Given the description of an element on the screen output the (x, y) to click on. 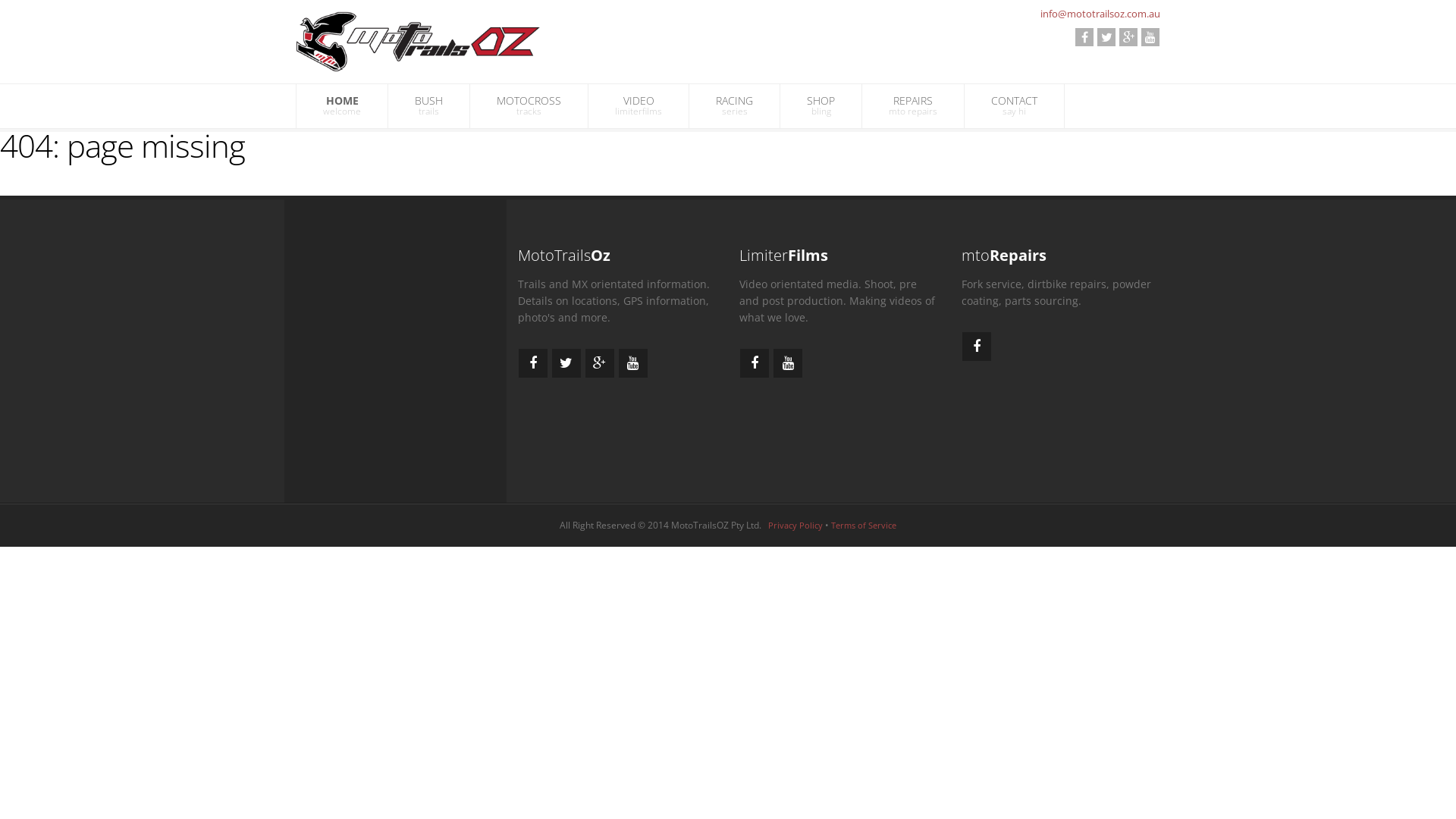
VIDEO
limiterfilms Element type: text (638, 106)
BUSH
trails Element type: text (428, 106)
MOTOCROSS
tracks Element type: text (528, 106)
HOME
welcome Element type: text (341, 106)
REPAIRS
mto repairs Element type: text (912, 106)
Terms of Service Element type: text (863, 524)
Privacy Policy Element type: text (795, 524)
RACING
series Element type: text (734, 106)
info@mototrailsoz.com.au Element type: text (1100, 13)
CONTACT
say hi Element type: text (1013, 106)
SHOP
bling Element type: text (820, 106)
